Given the description of an element on the screen output the (x, y) to click on. 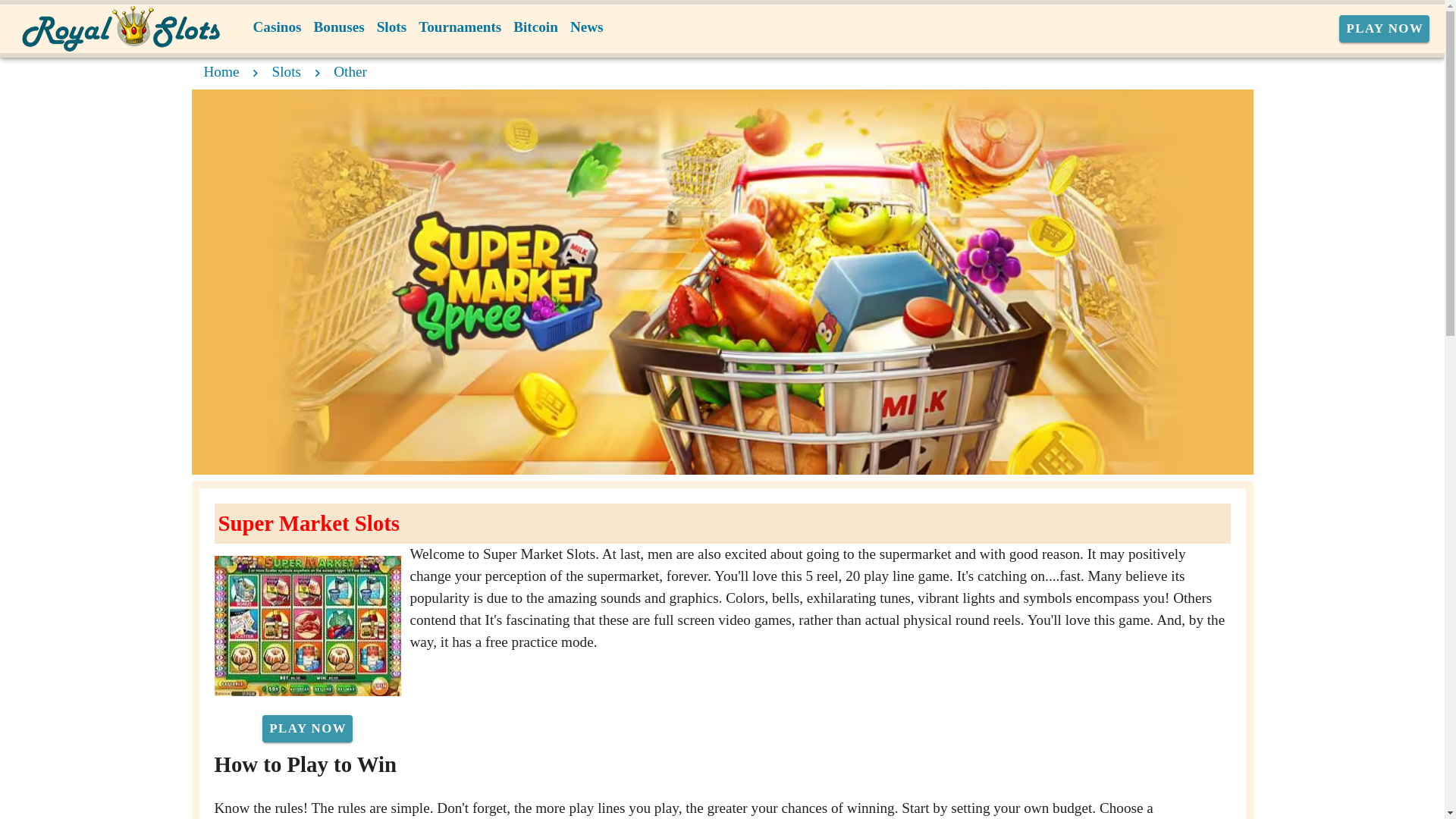
Bitcoin (535, 27)
Bonuses (338, 27)
Slots (391, 27)
PLAY NOW (307, 728)
Home (220, 71)
News (587, 27)
Slots (286, 71)
PLAY NOW (1384, 28)
Casinos (277, 27)
Tournaments (459, 27)
Other (349, 71)
